Given the description of an element on the screen output the (x, y) to click on. 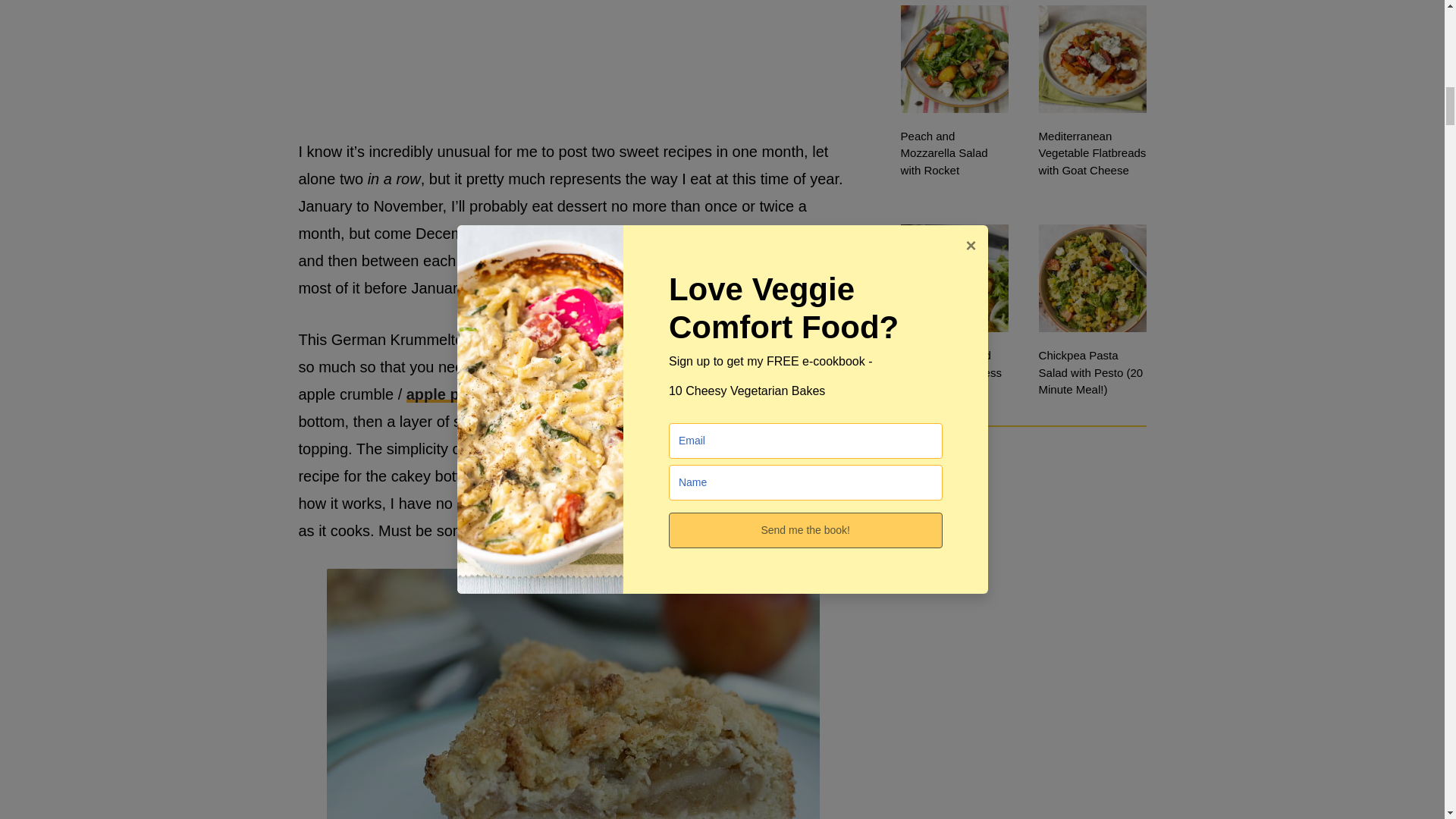
apple pie (438, 393)
Apple crumble cake (572, 693)
